Given the description of an element on the screen output the (x, y) to click on. 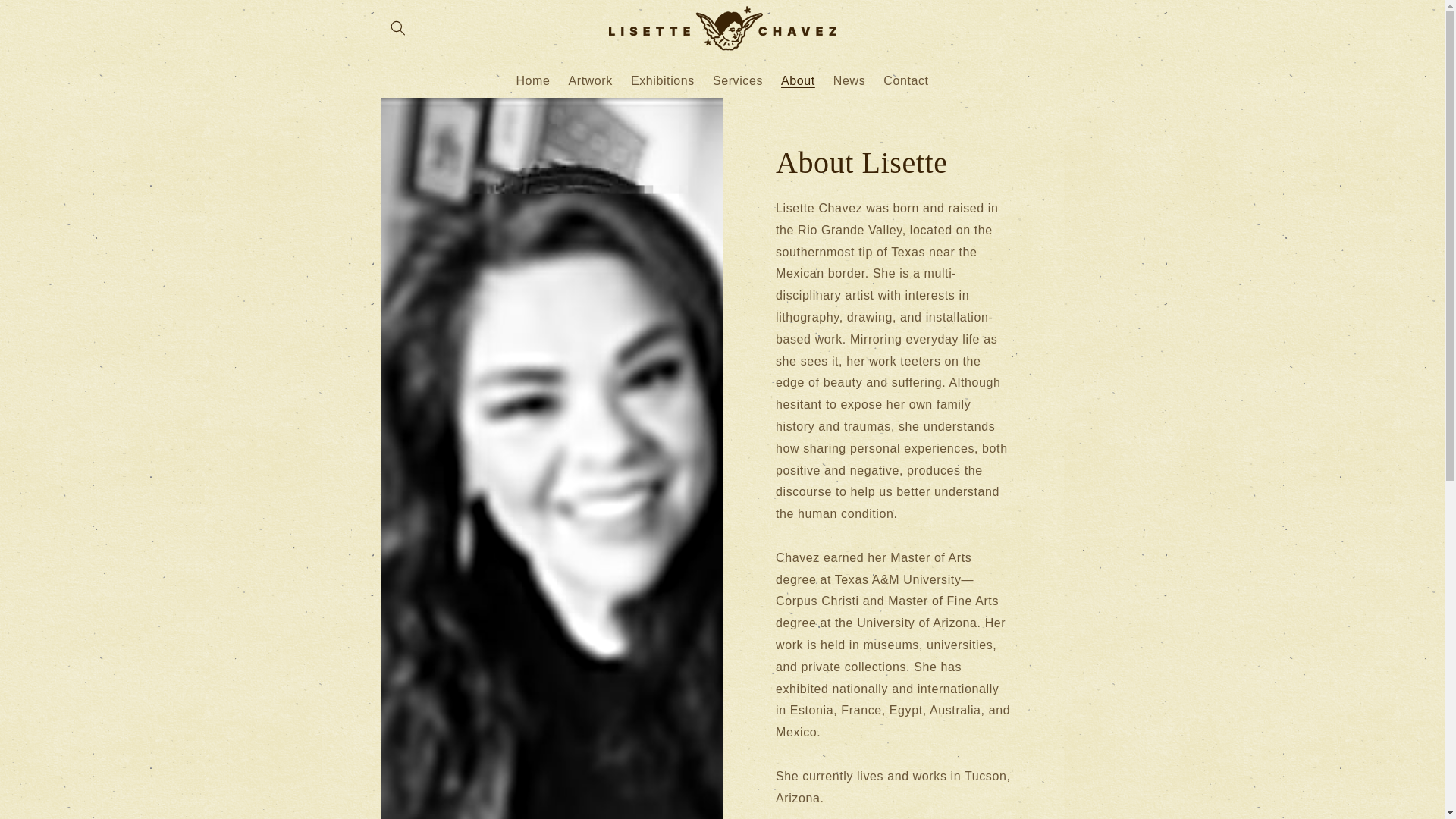
Artwork (590, 80)
Services (737, 80)
News (849, 80)
Exhibitions (662, 80)
Contact (906, 80)
About (797, 80)
Skip to content (45, 17)
Home (532, 80)
